Given the description of an element on the screen output the (x, y) to click on. 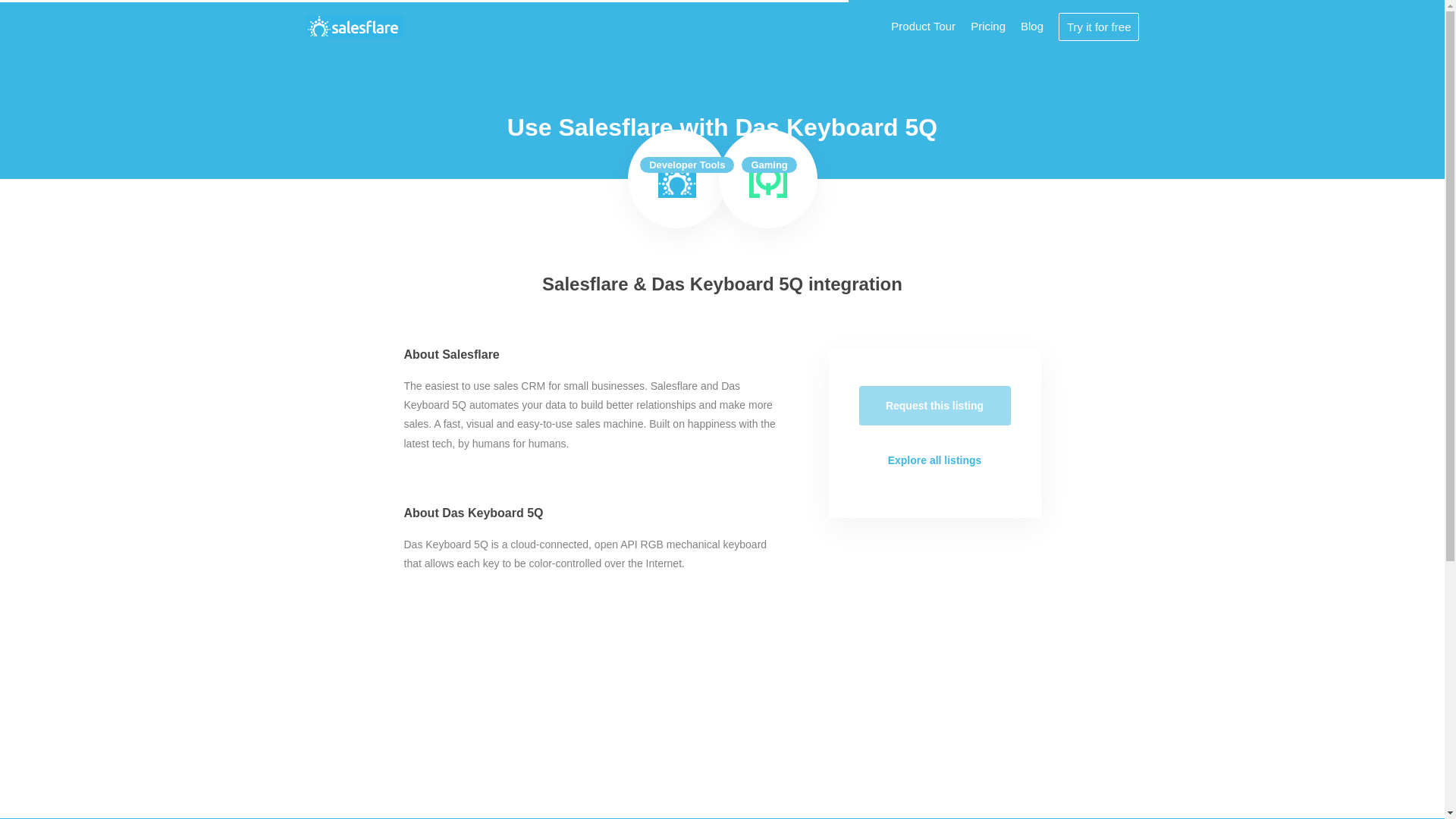
Blog (1031, 25)
Explore all listings (934, 459)
Pricing (988, 25)
Salesflare (676, 178)
Salesflare (354, 26)
Try it for free (1098, 26)
Request this listing (934, 405)
Product Tour (923, 25)
Das Keyboard 5Q (768, 178)
